Given the description of an element on the screen output the (x, y) to click on. 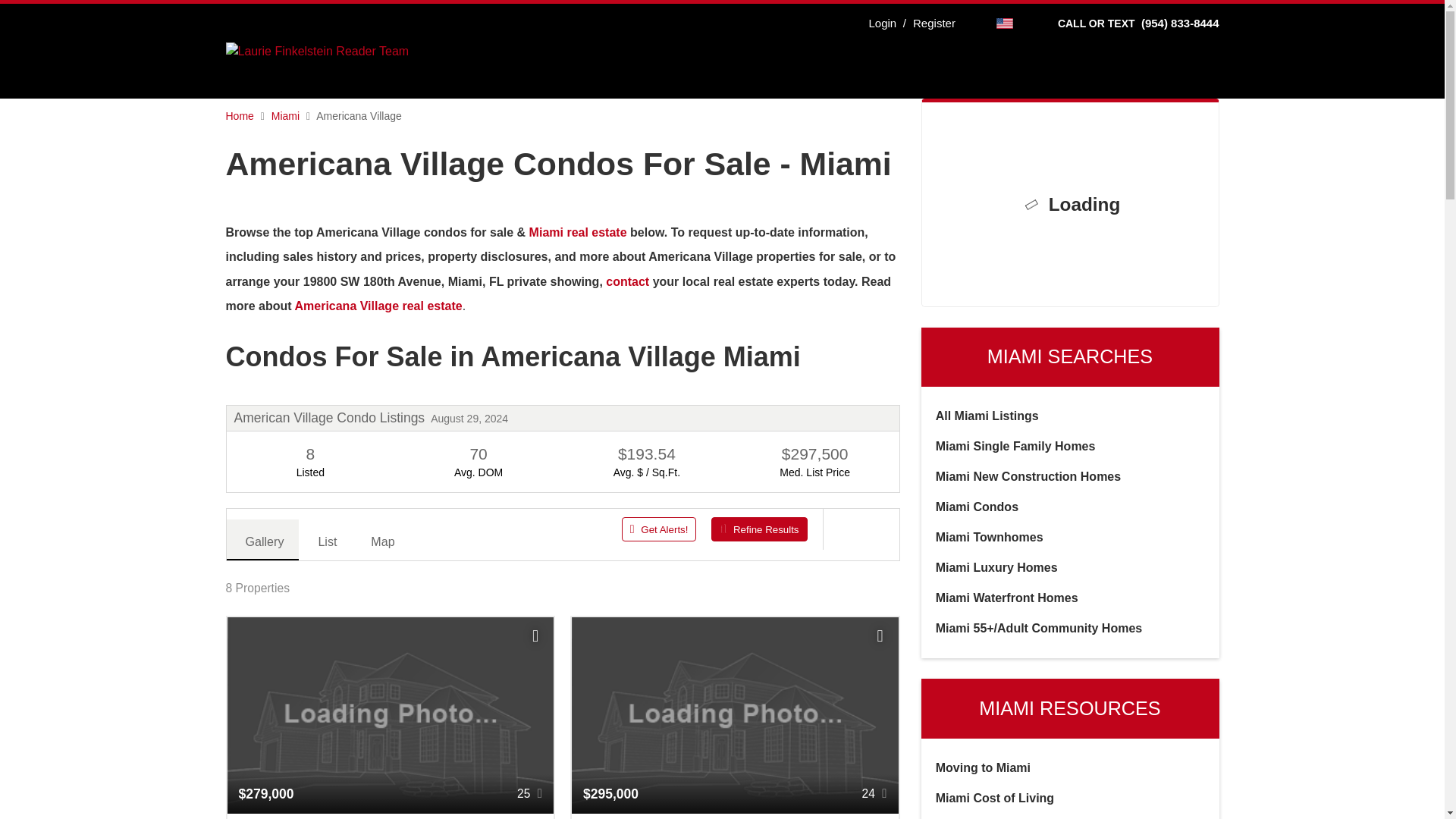
19800 SW 180th Ave Lot 256 Miami,  FL 33187 (390, 816)
Select Language (1005, 22)
Register (927, 22)
Home Page (317, 50)
Login (881, 22)
